Given the description of an element on the screen output the (x, y) to click on. 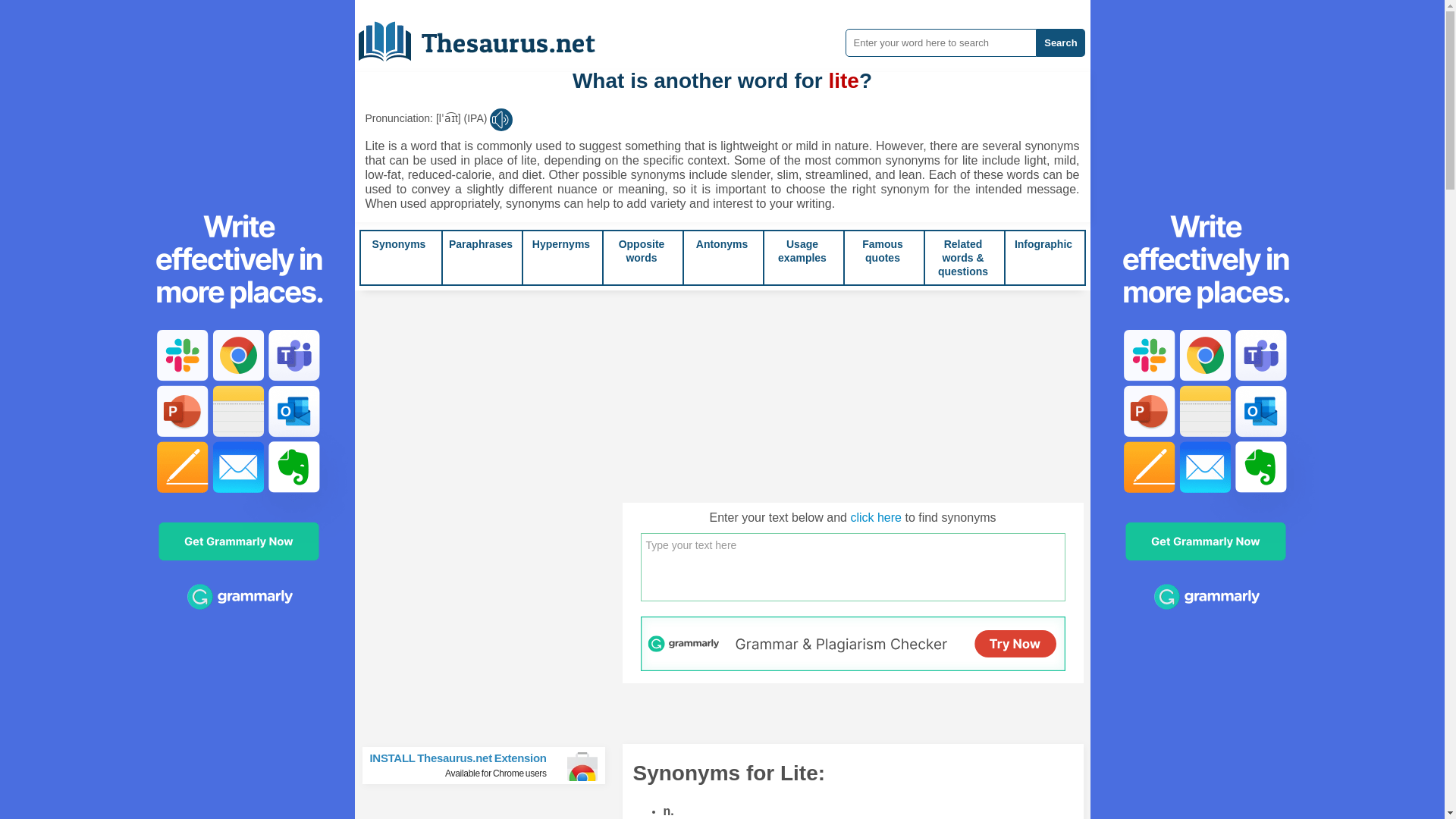
Usage examples (802, 250)
Thesaurus.net (487, 35)
Opposite words (641, 250)
Infographic (1042, 244)
Hypernyms (560, 244)
Antonyms (721, 244)
Famous quotes (881, 250)
Synonyms (399, 244)
Synonyms (399, 244)
Infographic (1042, 244)
Opposite words (641, 250)
Famous quotes (881, 250)
Antonyms (721, 244)
Usage examples (802, 250)
Paraphrases (480, 244)
